Given the description of an element on the screen output the (x, y) to click on. 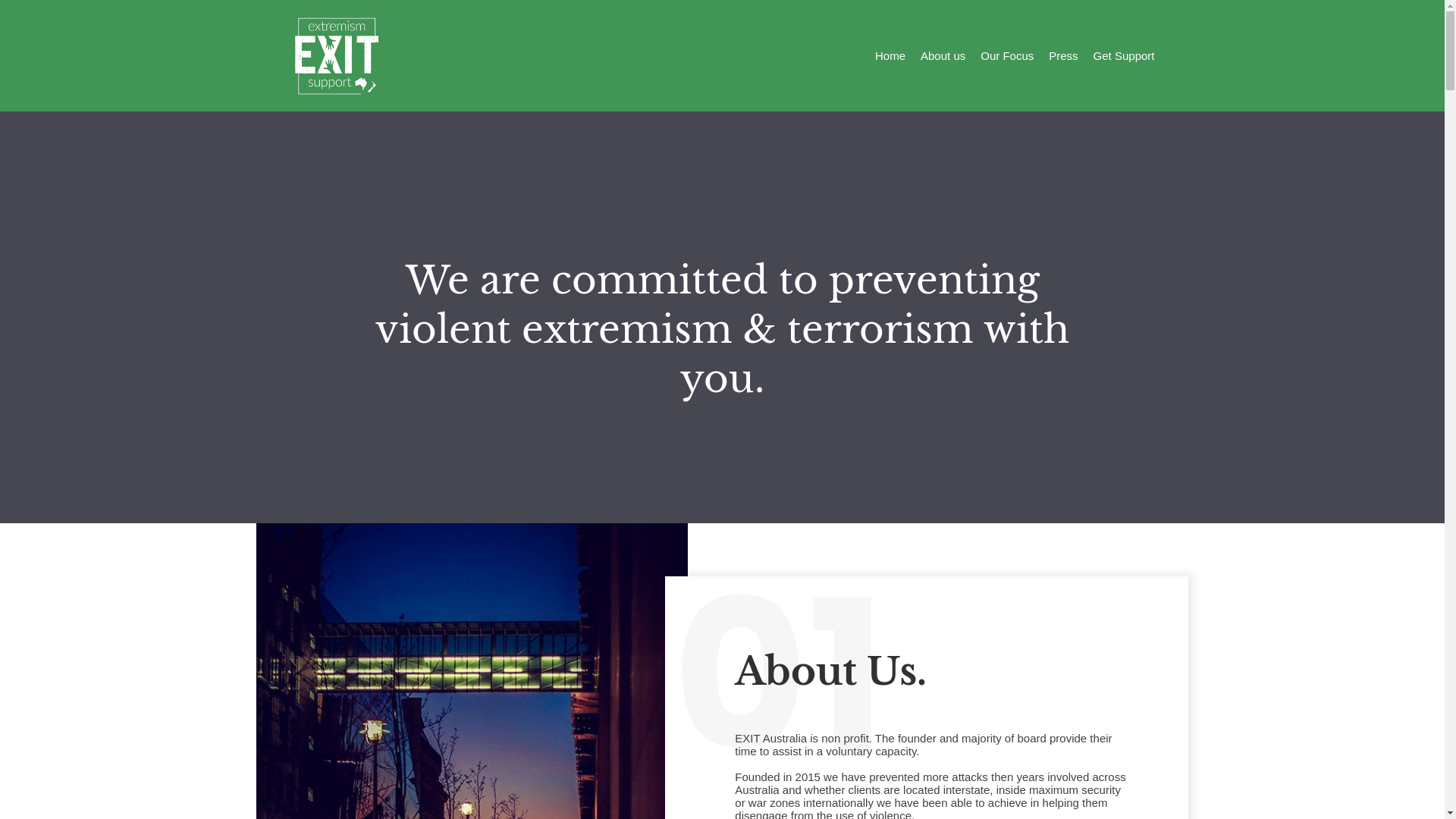
Our Focus Element type: text (1006, 56)
About us Element type: text (942, 56)
Home Element type: text (890, 56)
Get Support Element type: text (1123, 56)
Skip to content Element type: text (15, 7)
Press Element type: text (1062, 56)
EXIT Australia & NZ Element type: hover (334, 55)
